Given the description of an element on the screen output the (x, y) to click on. 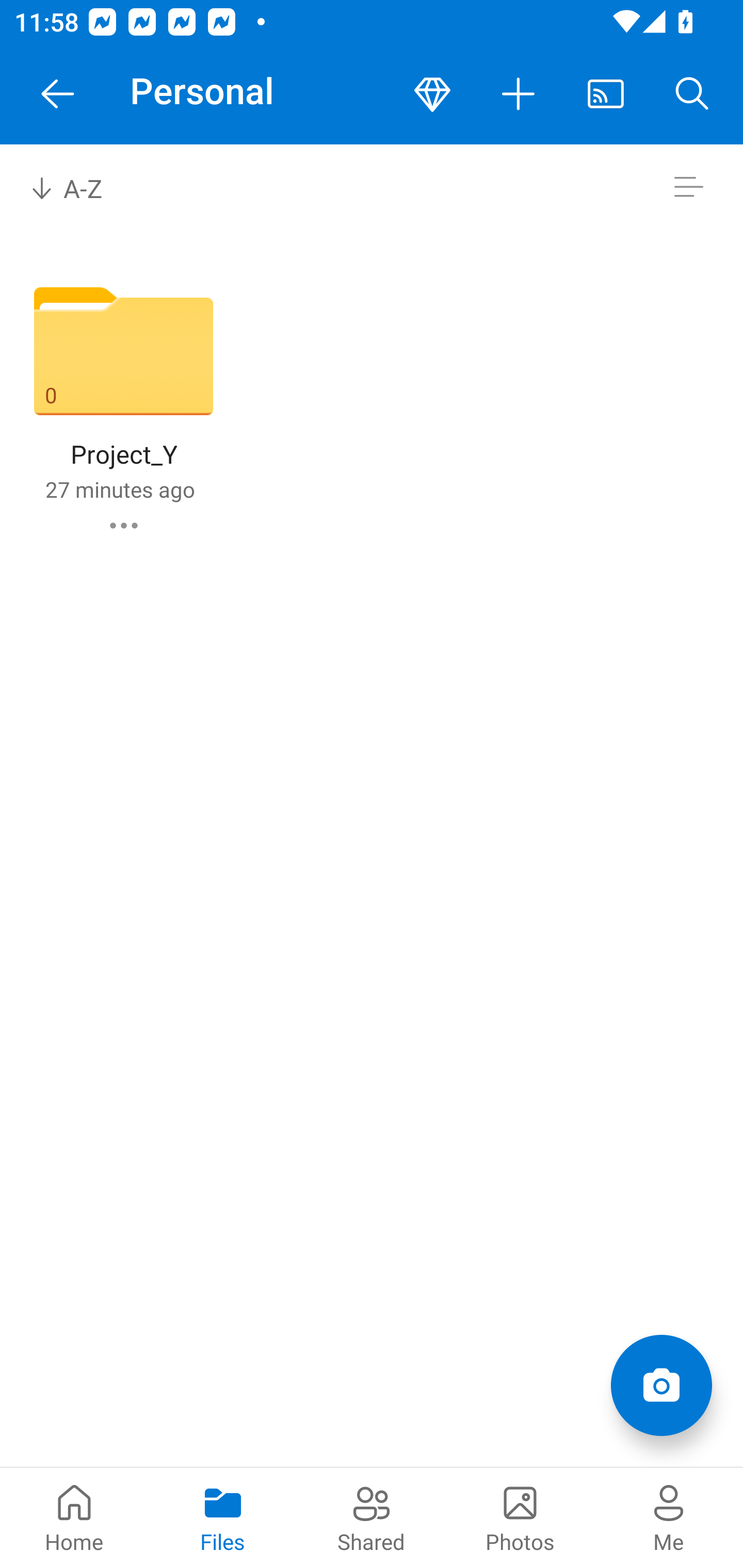
Navigate Up (57, 93)
Cast. Disconnected (605, 93)
Premium button (432, 93)
More actions button (518, 93)
Search button (692, 93)
A-Z Sort by combo box, sort by name, A to Z (80, 187)
Switch to list view (688, 187)
27 minutes ago (119, 489)
Project_Y commands (123, 525)
Add items Scan (660, 1385)
Home pivot Home (74, 1517)
Shared pivot Shared (371, 1517)
Photos pivot Photos (519, 1517)
Me pivot Me (668, 1517)
